Given the description of an element on the screen output the (x, y) to click on. 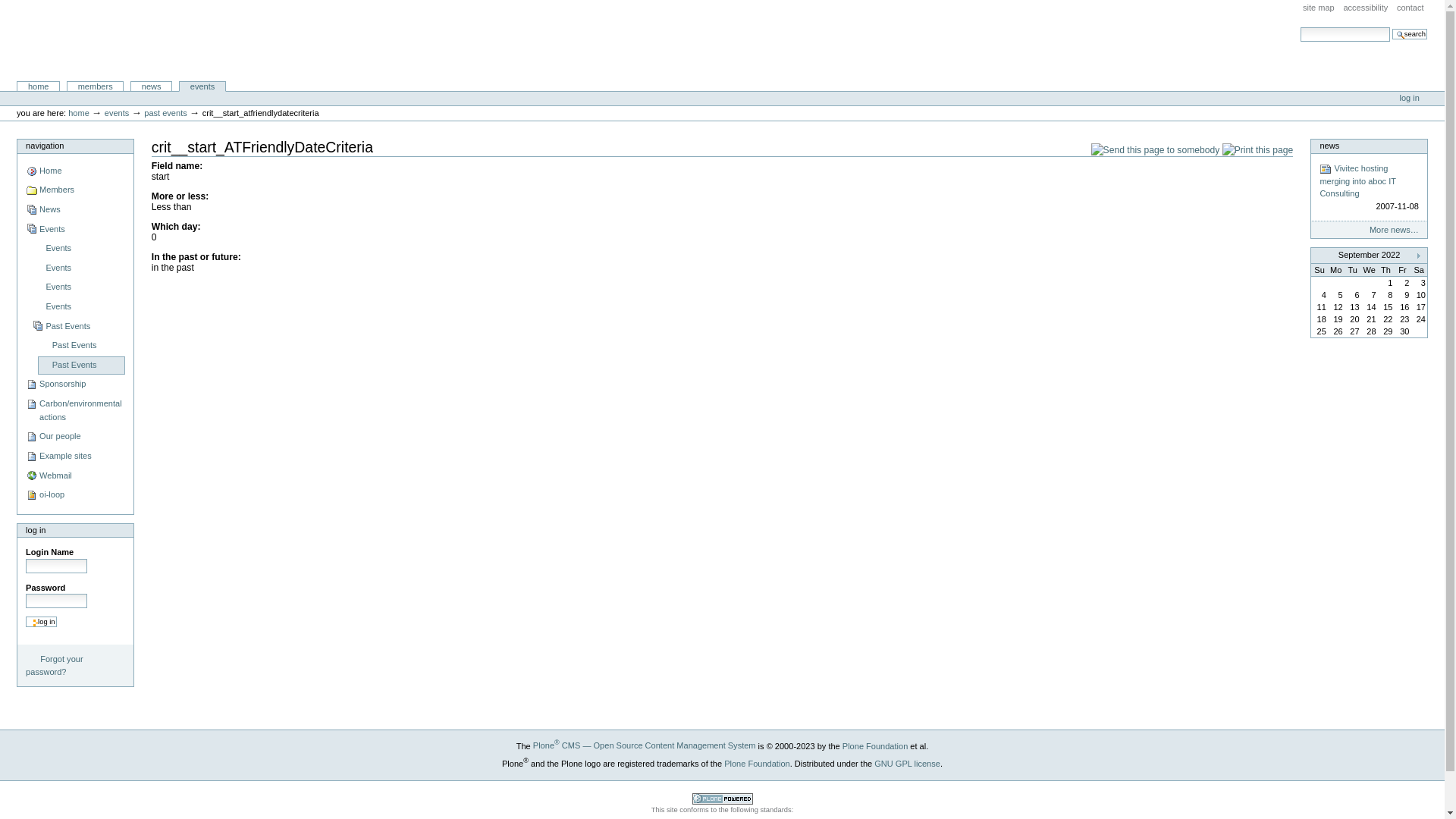
members Element type: text (95, 86)
Events Element type: text (77, 307)
news Element type: text (151, 86)
Webmail Element type: text (74, 475)
log in Element type: text (74, 530)
Events Element type: text (77, 287)
oi-loop Element type: text (74, 495)
past events Element type: text (165, 112)
Vivitec hosting merging into aboc IT Consulting
2007-11-08 Element type: text (1368, 187)
Forgot your password? Element type: text (74, 665)
Example sites Element type: text (74, 456)
Home Element type: text (74, 171)
events Element type: text (116, 112)
Carbon/environmental actions Element type: text (74, 410)
Plone Foundation Element type: text (874, 744)
aboc IT Consulting Element type: text (74, 40)
Events Element type: text (74, 228)
contact Element type: text (1410, 7)
Sponsorship Element type: text (74, 384)
navigation Element type: text (74, 146)
home Element type: text (78, 112)
Past Events Element type: text (81, 365)
news Element type: text (1368, 146)
Past Events Element type: text (81, 345)
Events Element type: text (77, 268)
accessibility Element type: text (1365, 7)
Print this page Element type: hover (1257, 149)
Send this page to somebody Element type: hover (1155, 149)
Past Events Element type: text (77, 325)
log in Element type: text (1409, 97)
Our people Element type: text (74, 436)
home Element type: text (37, 86)
Search Site Element type: hover (1345, 34)
News Element type: text (74, 209)
Members Element type: text (74, 190)
GNU GPL license Element type: text (907, 762)
Events Element type: text (77, 248)
Log in Element type: text (40, 621)
News Element type: hover (1325, 169)
Plone Foundation Element type: text (756, 762)
site map Element type: text (1318, 7)
events Element type: text (201, 86)
Search Element type: text (1409, 33)
